Given the description of an element on the screen output the (x, y) to click on. 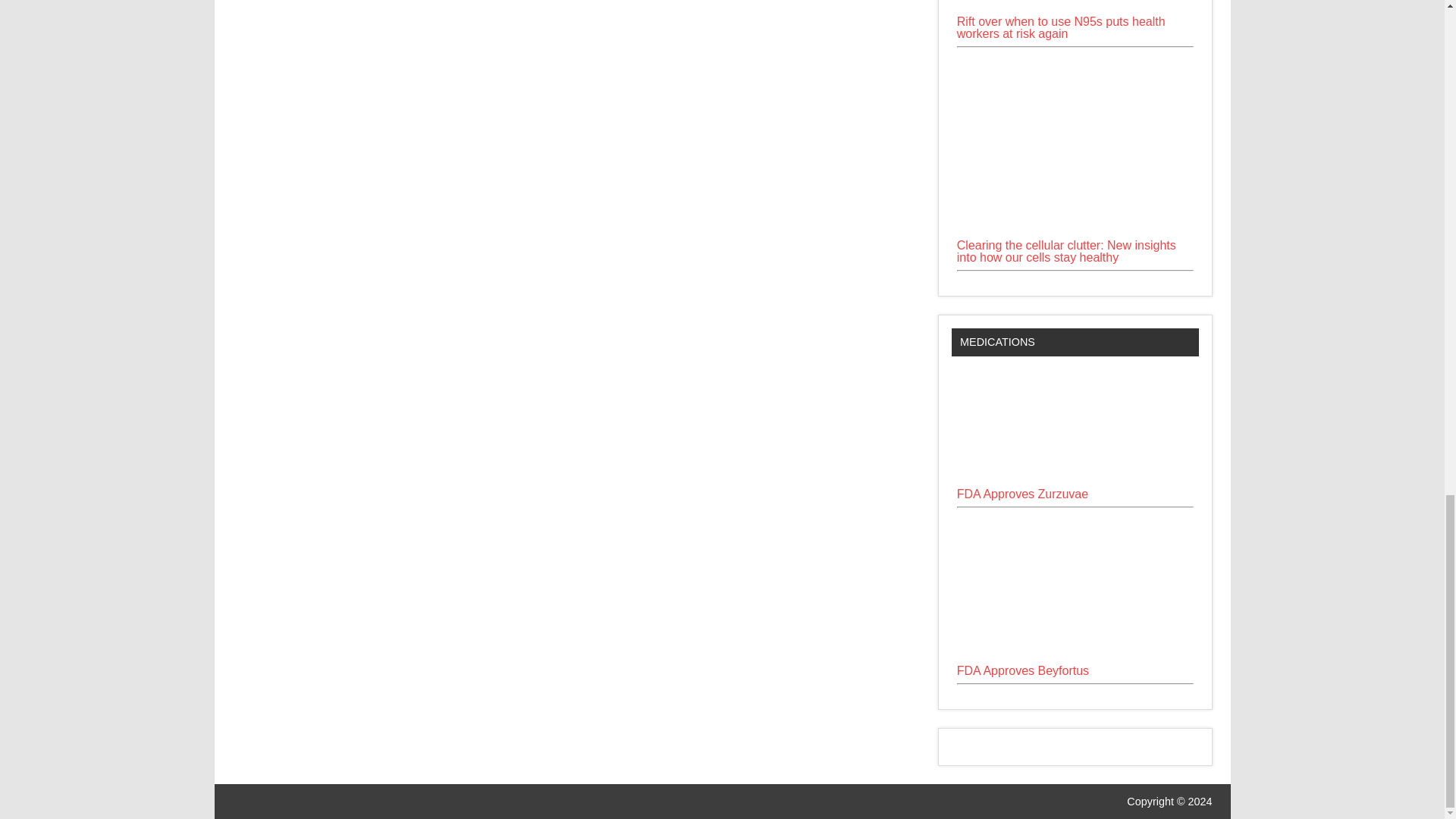
Rift over when to use N95s puts health workers at risk again (1074, 9)
FDA Approves Beyfortus (1022, 670)
Rift over when to use N95s puts health workers at risk again (1074, 7)
Rift over when to use N95s puts health workers at risk again (1061, 27)
FDA Approves Zurzuvae (1021, 493)
